Given the description of an element on the screen output the (x, y) to click on. 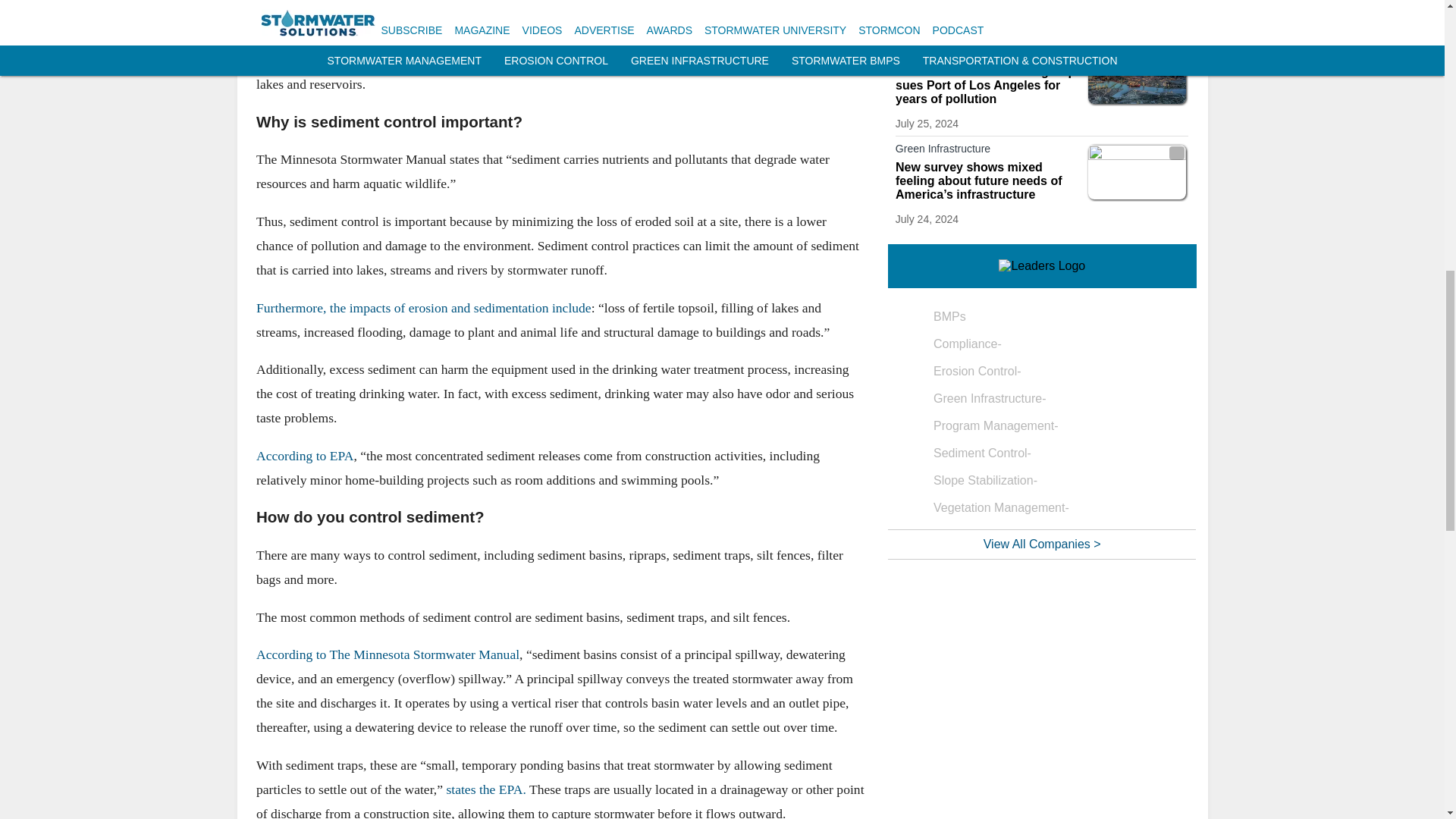
According to The Minnesota Stormwater Manual (387, 654)
According to EPA (304, 455)
states the EPA. (485, 789)
